Given the description of an element on the screen output the (x, y) to click on. 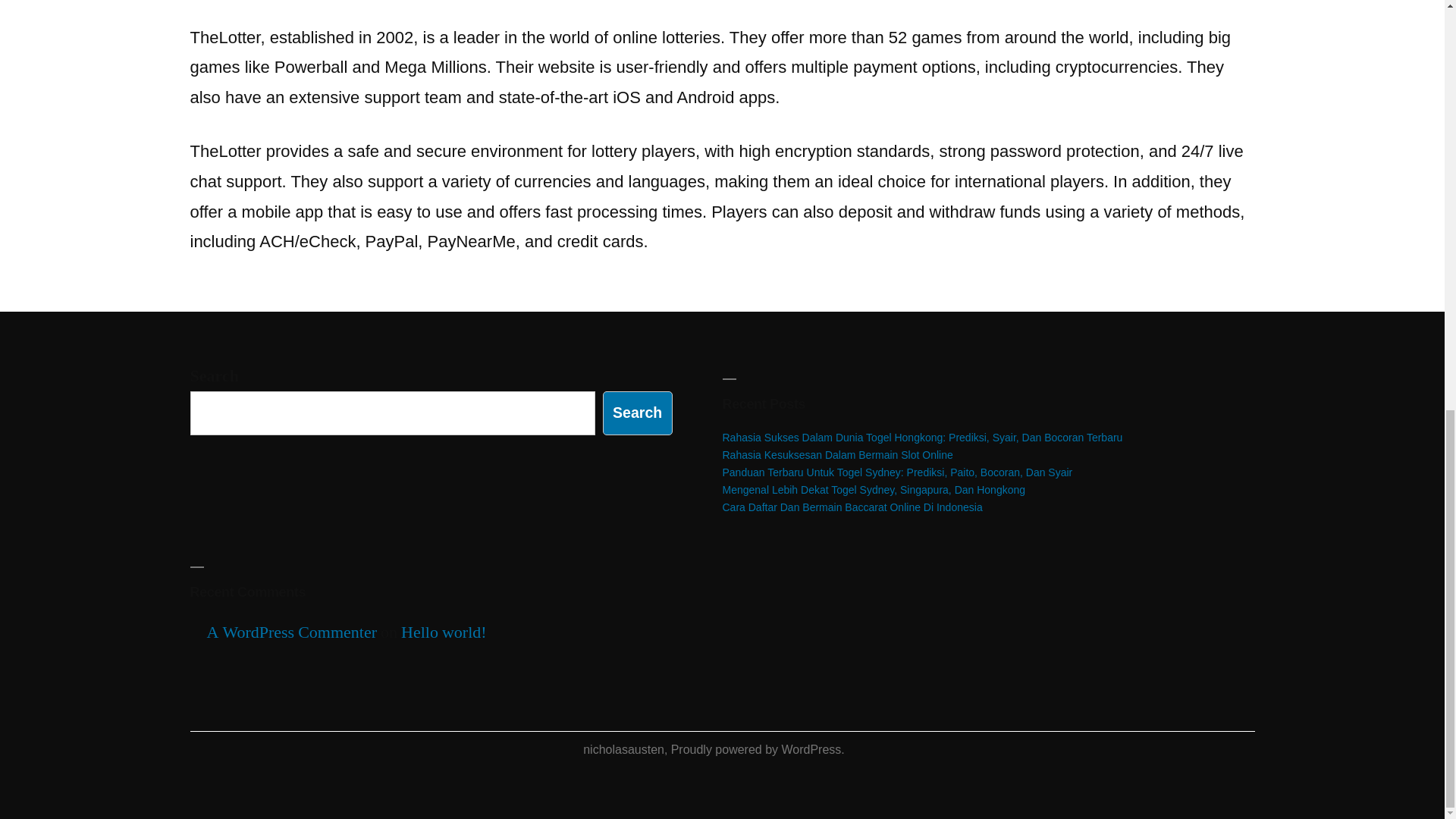
A WordPress Commenter (291, 631)
Search (637, 412)
Hello world! (443, 631)
Proudly powered by WordPress. (757, 748)
Rahasia Kesuksesan Dalam Bermain Slot Online (837, 454)
Cara Daftar Dan Bermain Baccarat Online Di Indonesia (851, 507)
Mengenal Lebih Dekat Togel Sydney, Singapura, Dan Hongkong (873, 490)
nicholasausten (623, 748)
